Given the description of an element on the screen output the (x, y) to click on. 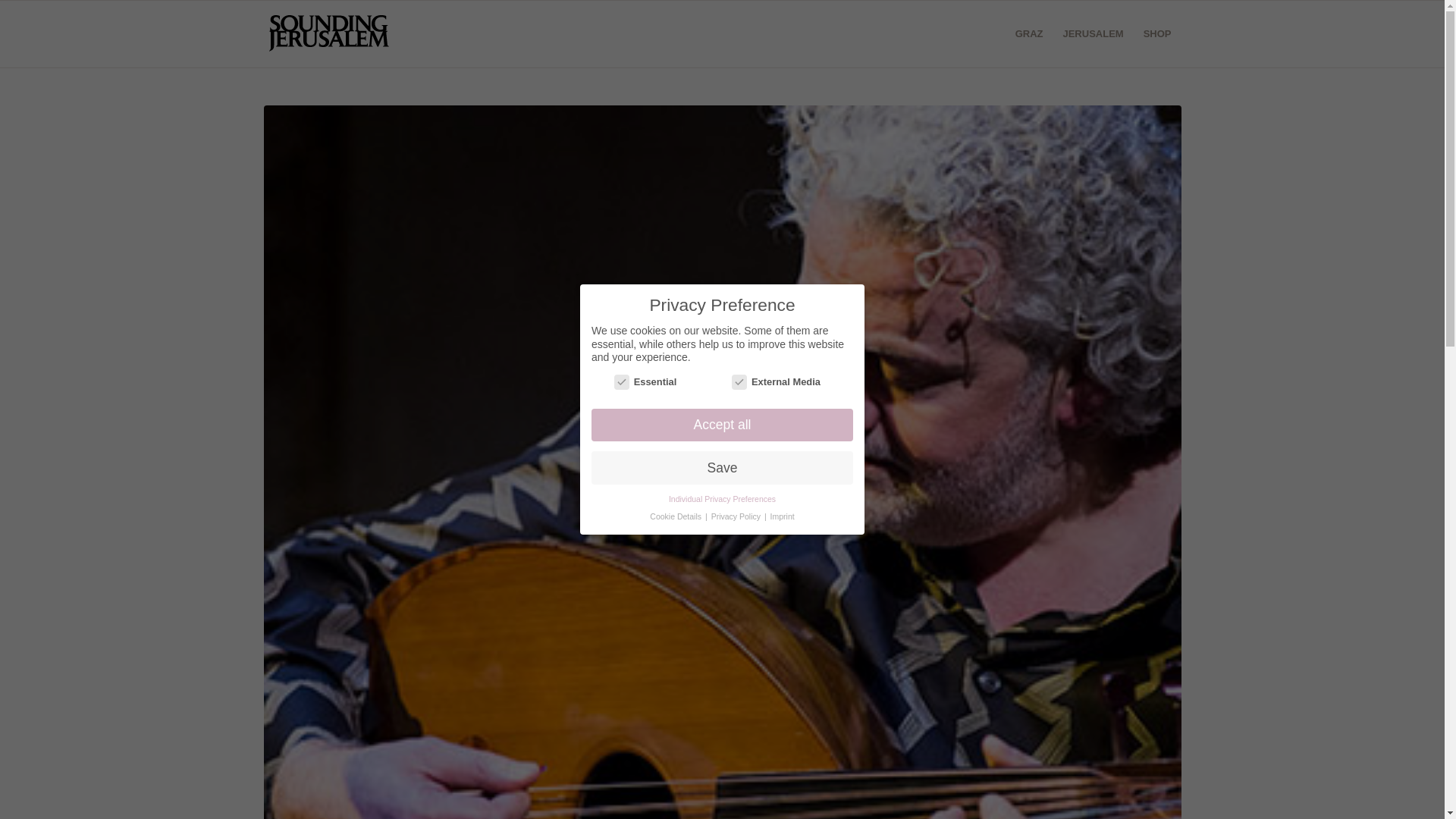
Privacy Policy (736, 452)
JERUSALEM (1092, 33)
Imprint (782, 457)
Save (722, 376)
Cookie Details (676, 442)
Accept all (722, 326)
Individual Privacy Preferences (722, 419)
